Given the description of an element on the screen output the (x, y) to click on. 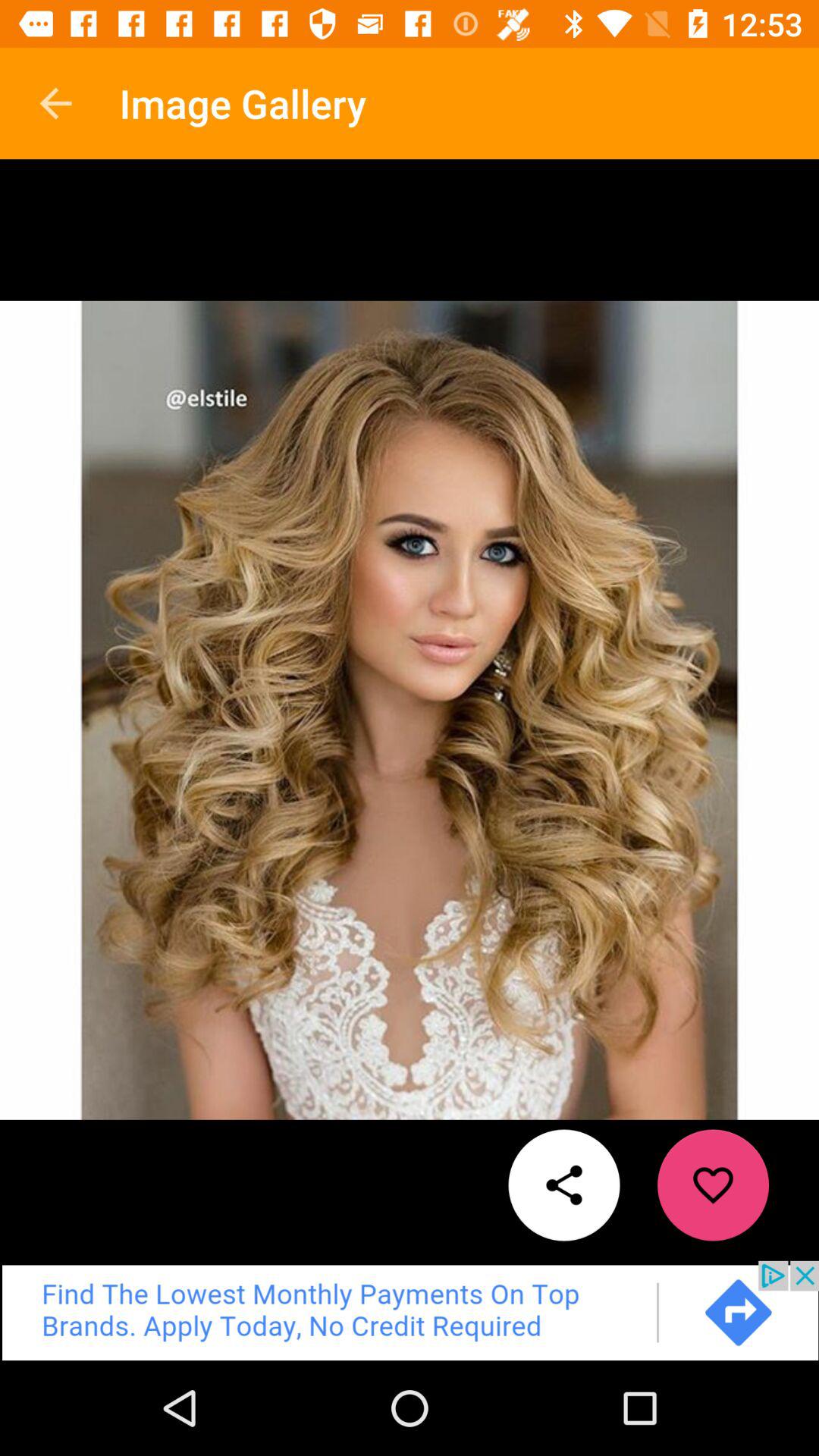
go to share (563, 1185)
